Given the description of an element on the screen output the (x, y) to click on. 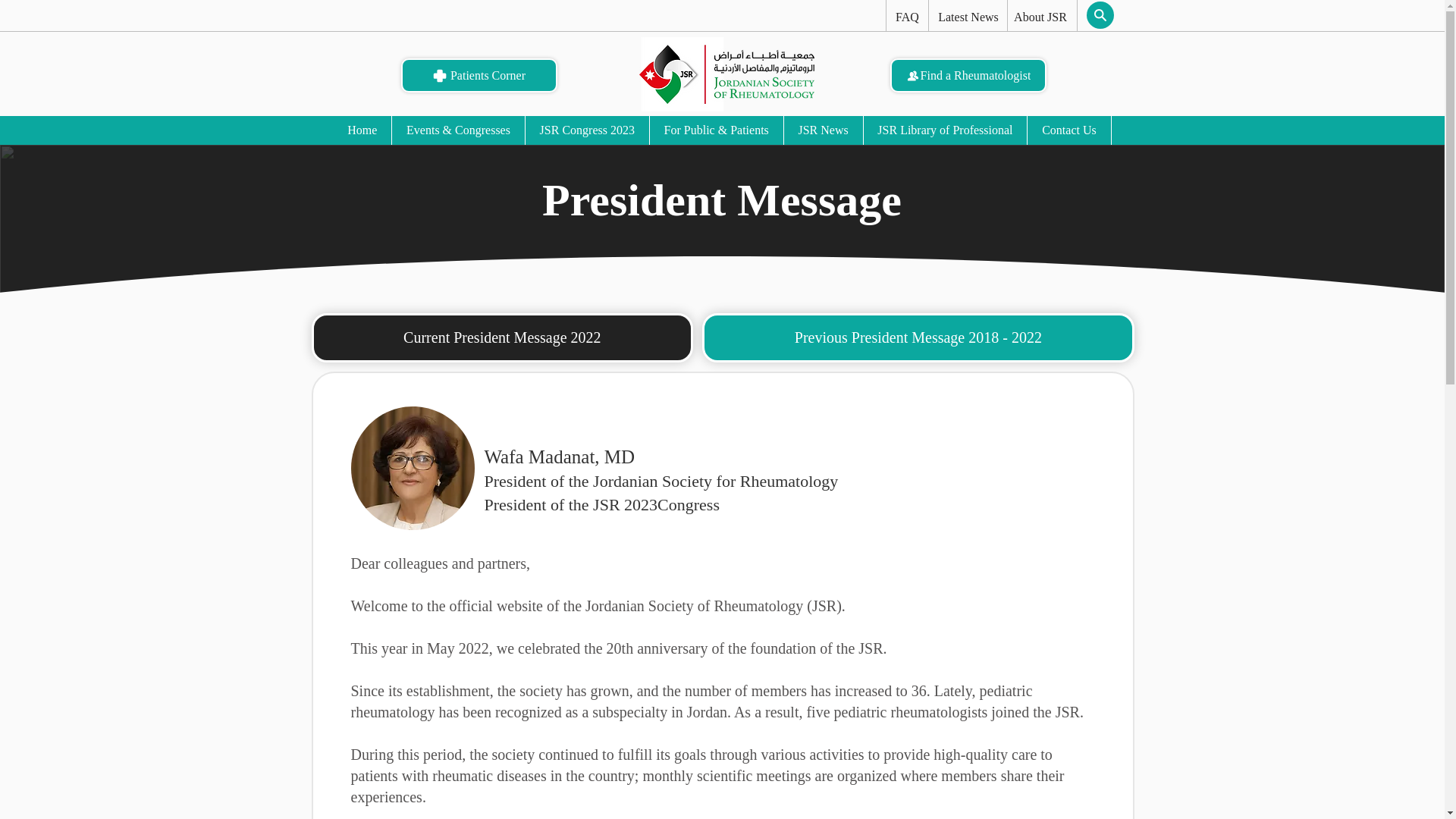
FAQ (906, 16)
About JSR (1039, 16)
Home (363, 130)
Patients Corner (478, 75)
Latest News (968, 16)
Find a Rheumatologist (967, 75)
